Given the description of an element on the screen output the (x, y) to click on. 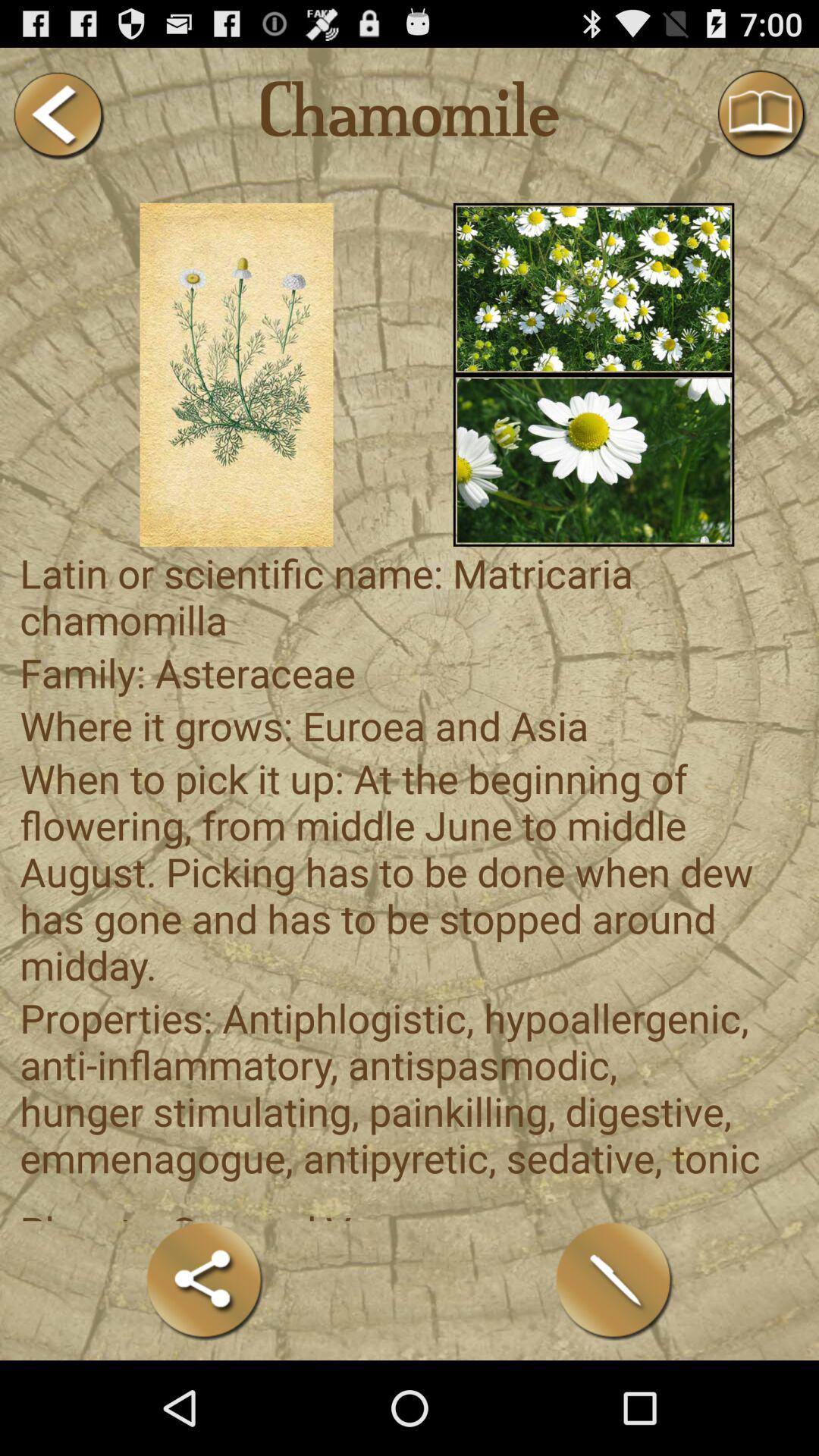
click the item below the planets sun and icon (614, 1280)
